Given the description of an element on the screen output the (x, y) to click on. 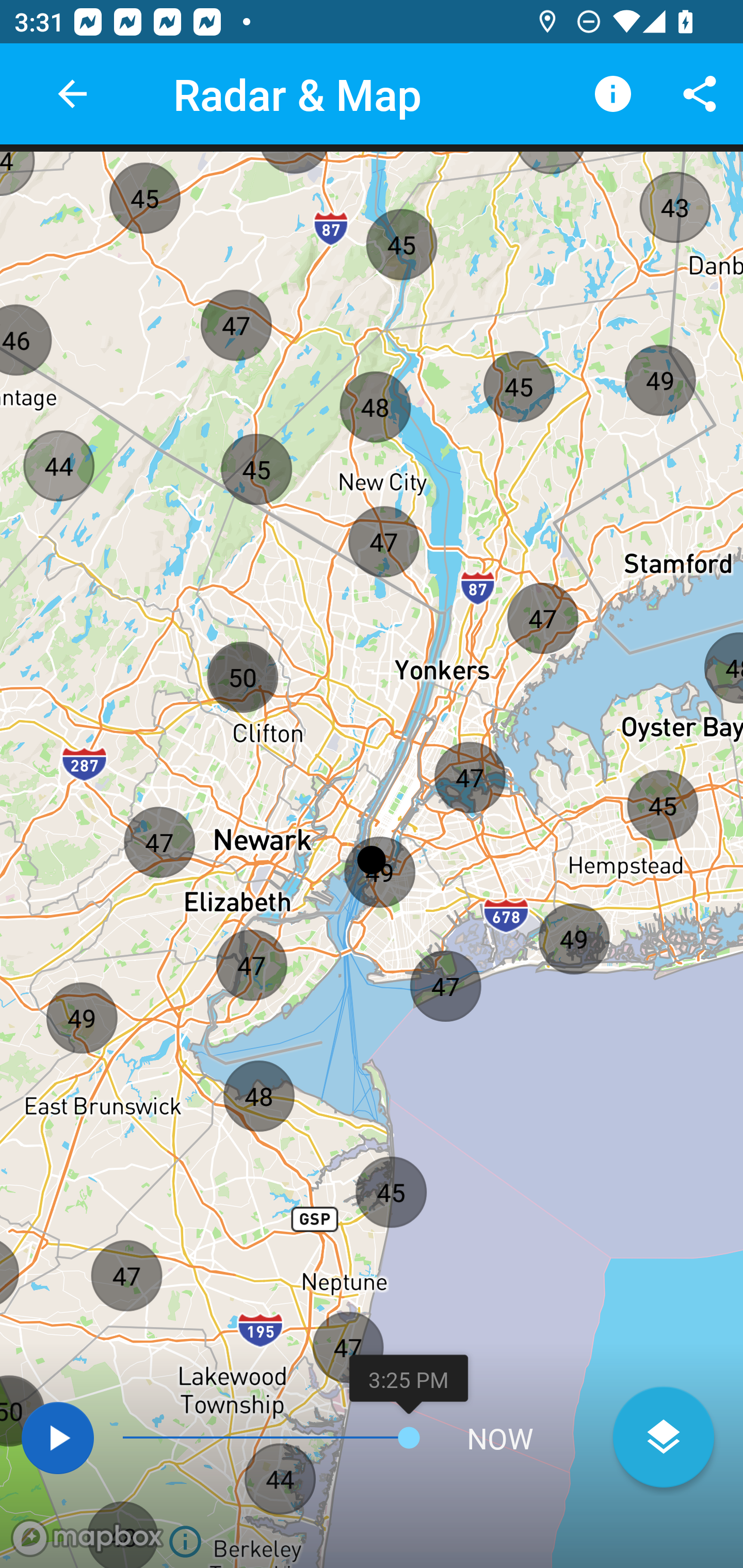
back (71, 93)
Legend (612, 93)
Share (699, 93)
Open layers menu. (663, 1437)
Play map layers animation. (57, 1437)
